Given the description of an element on the screen output the (x, y) to click on. 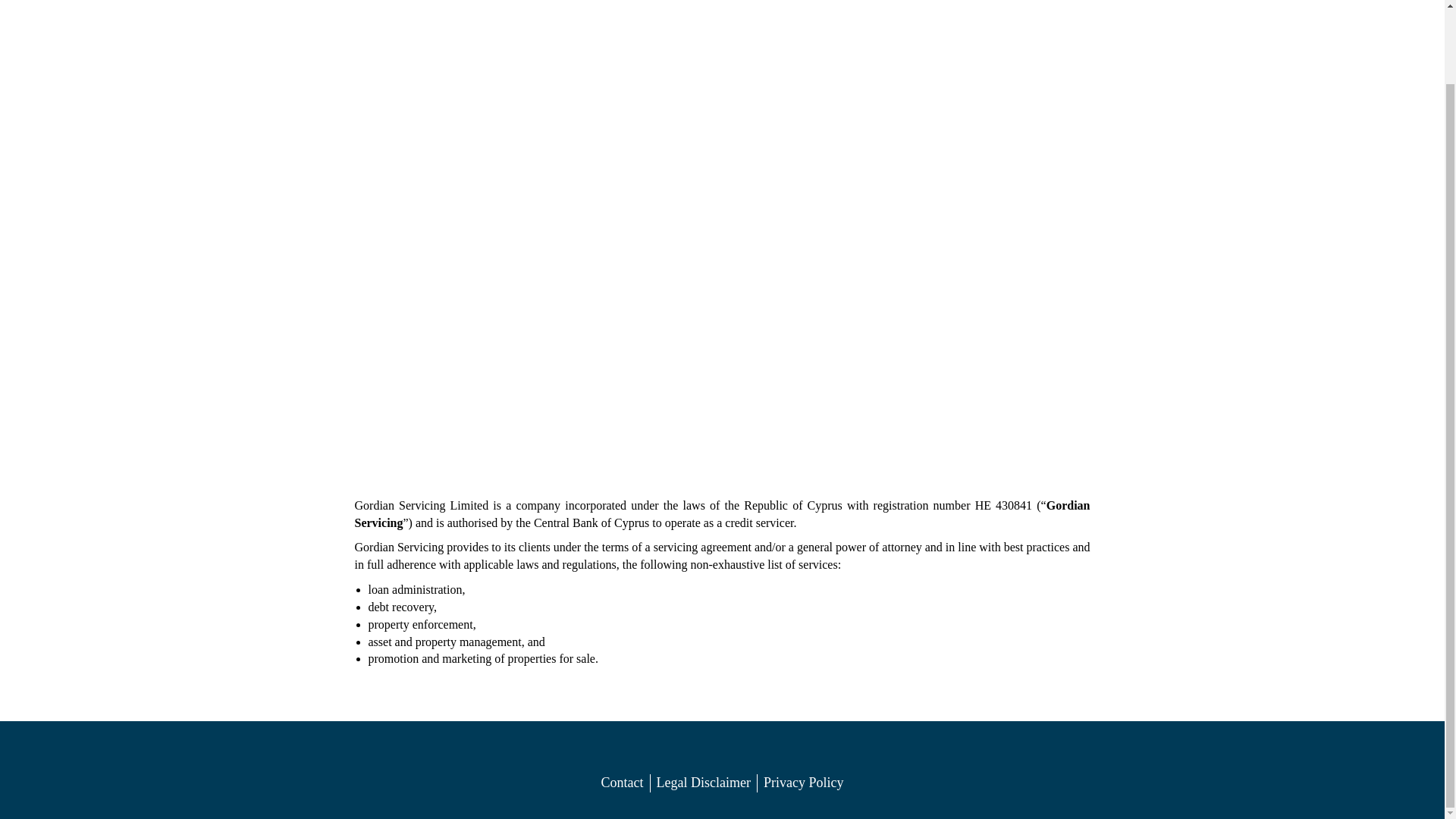
Privacy Policy (803, 782)
Legal Disclaimer (703, 782)
Contact (622, 782)
